Given the description of an element on the screen output the (x, y) to click on. 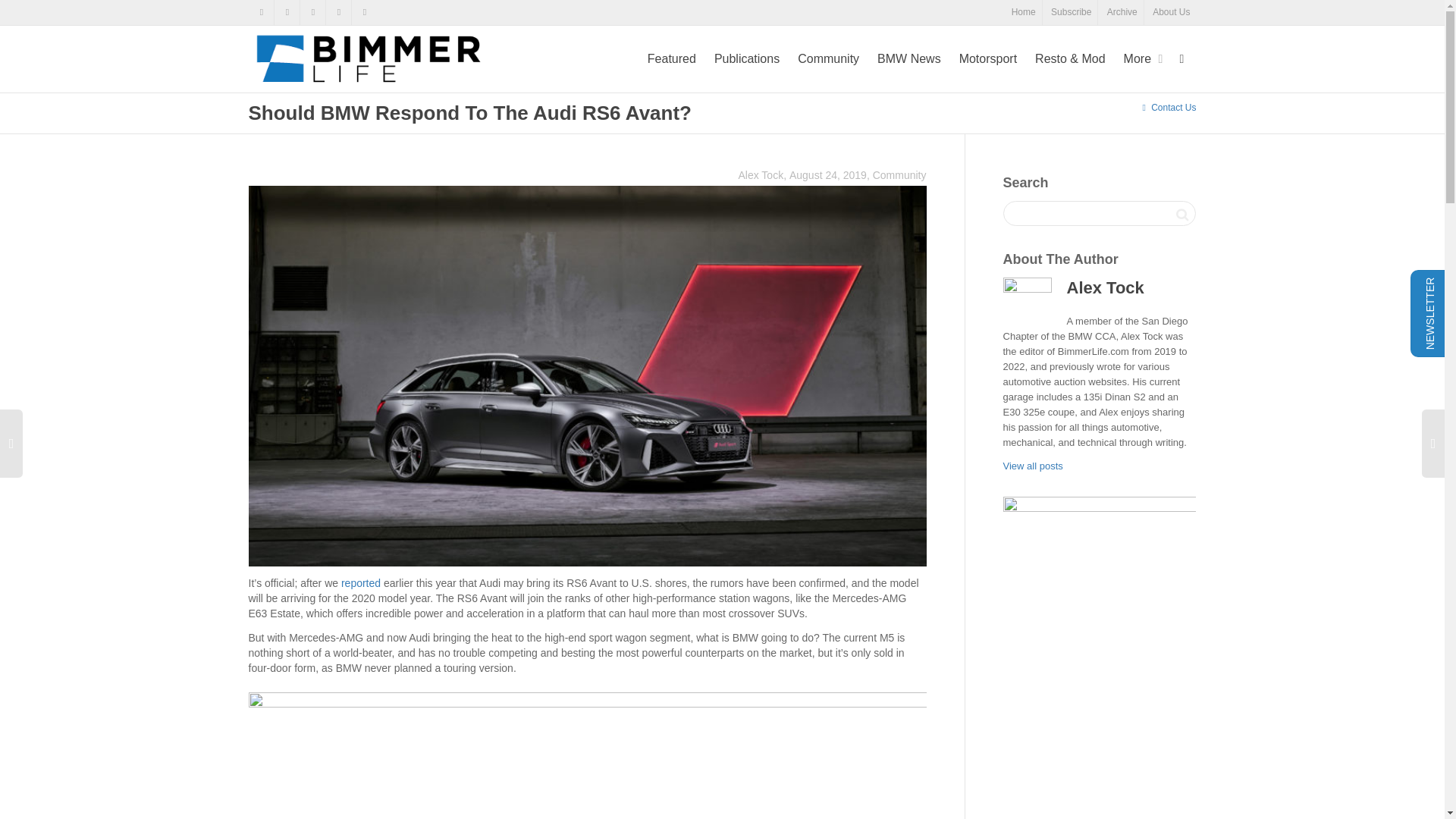
Community (828, 58)
Home (1024, 12)
BMW News (908, 58)
Community (828, 58)
BMW News (908, 58)
Publications (746, 58)
BimmerLife (371, 57)
Archive (1122, 12)
Home (1024, 12)
August 24, 2019 (827, 174)
Search (1181, 213)
Publications (746, 58)
reported (360, 582)
Subscribe (1071, 12)
Alex Tock (758, 174)
